Given the description of an element on the screen output the (x, y) to click on. 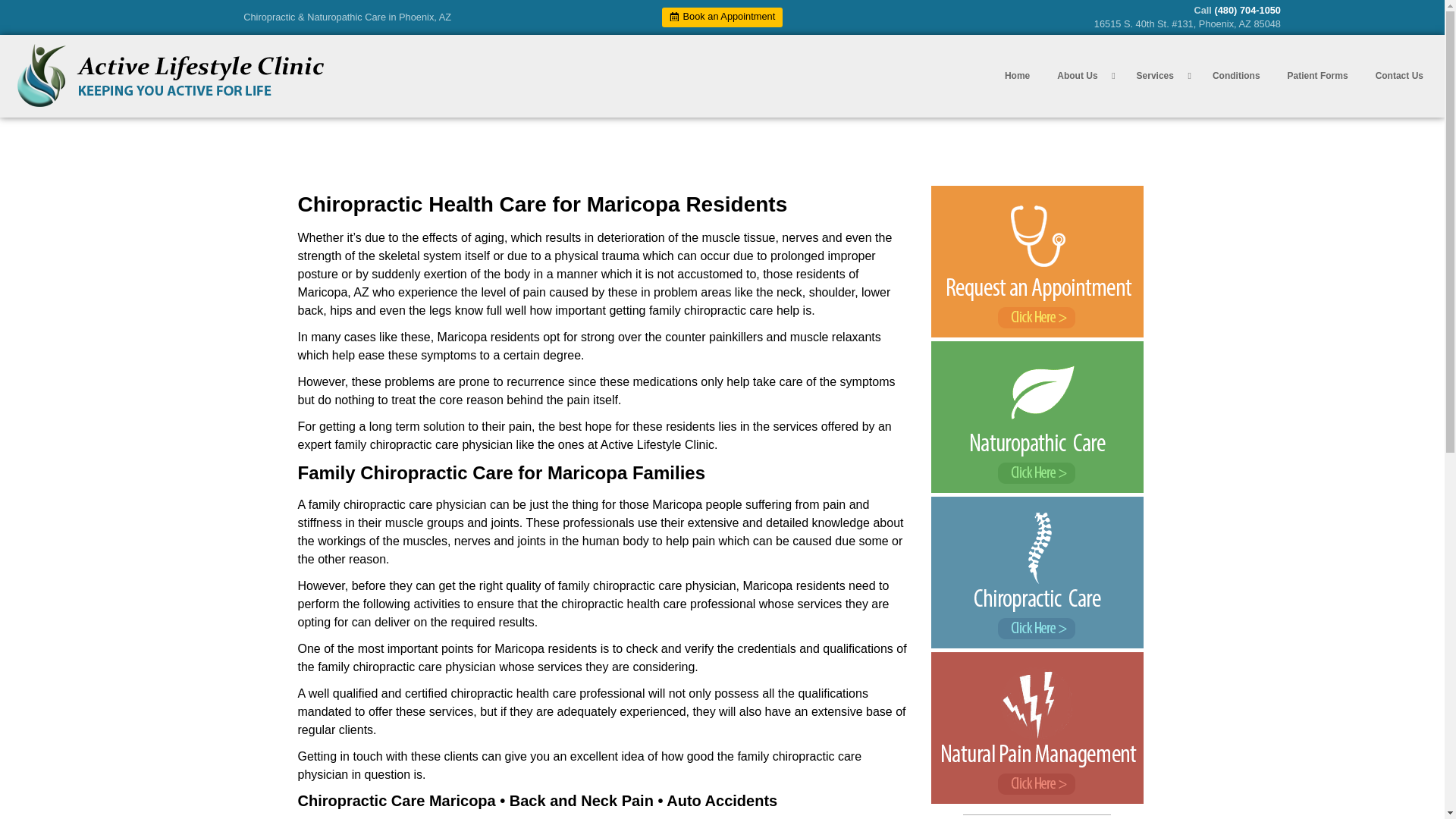
Book an Appointment (722, 17)
